Given the description of an element on the screen output the (x, y) to click on. 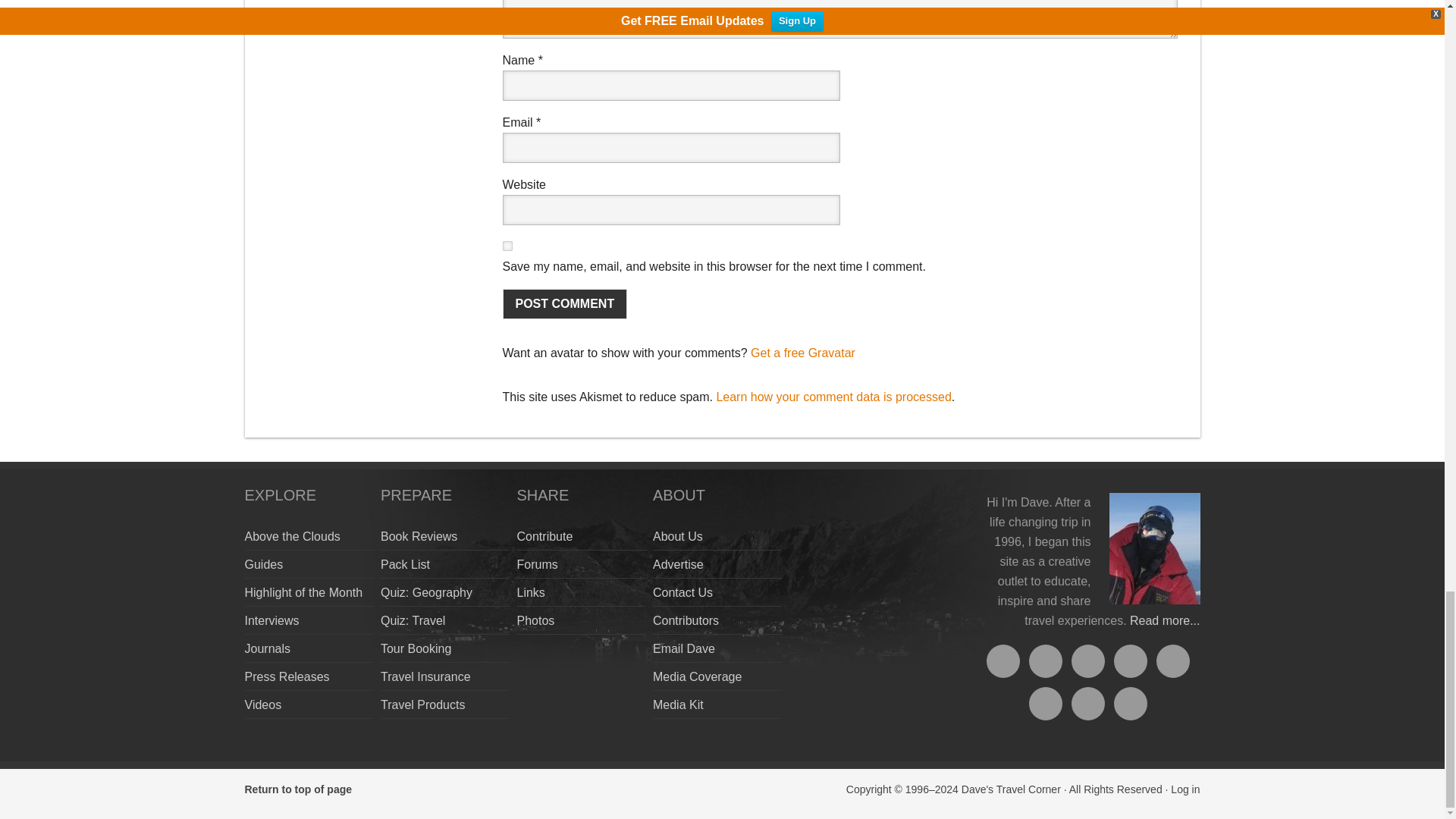
Get a free Gravatar (803, 352)
Learn how your comment data is processed (833, 396)
Post Comment (564, 304)
yes (507, 245)
Post Comment (564, 304)
